Given the description of an element on the screen output the (x, y) to click on. 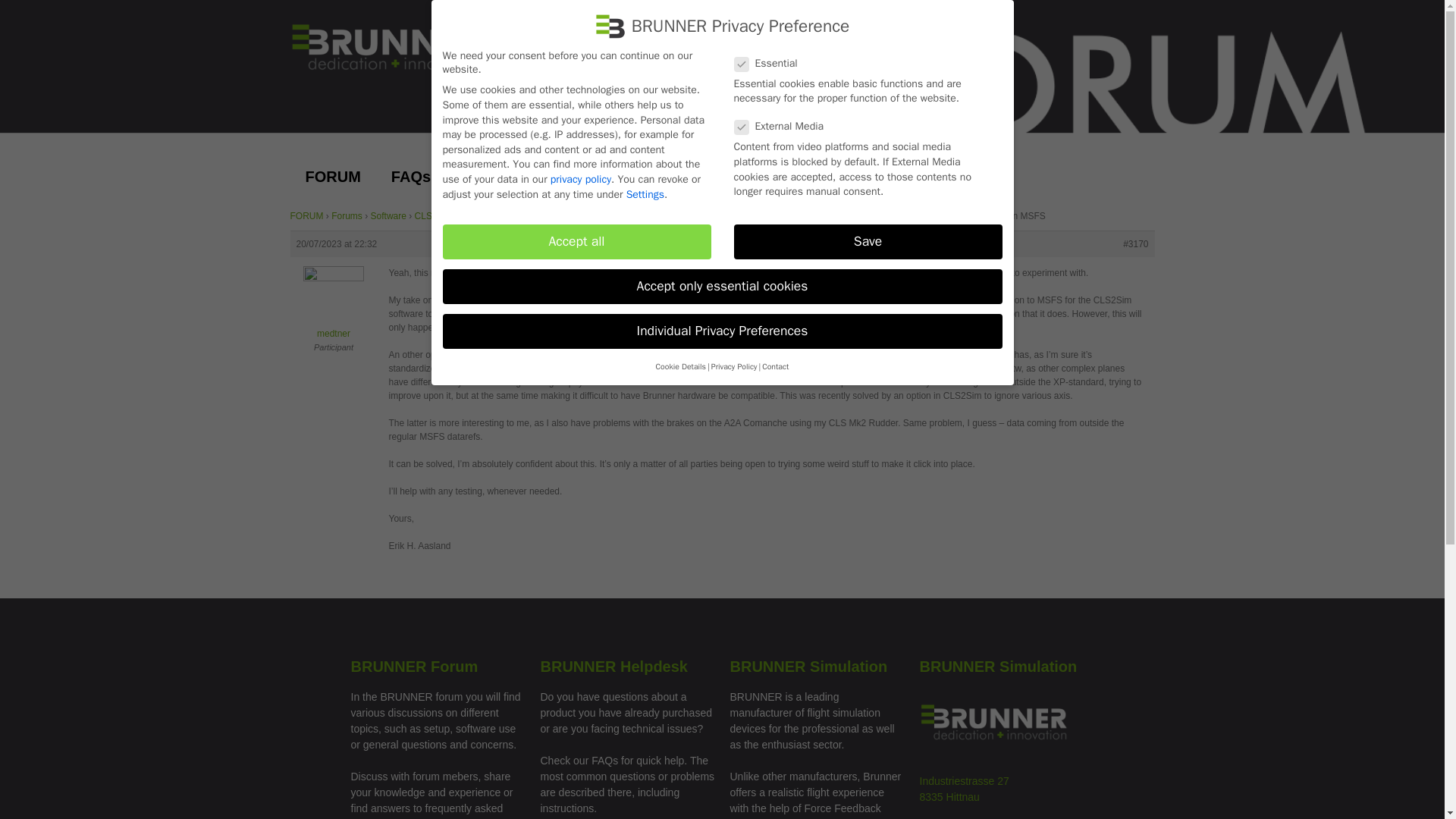
FORUM (332, 176)
FAQs (410, 176)
View medtner's profile (333, 306)
Open Cookie Preferences (32, 799)
CLS2Sim doesn't fully recognize the A2A Comanche in MSFS (623, 215)
HELPDESK (502, 176)
DOWNLOADS (624, 176)
Software (388, 215)
PROFILE CLOUD (767, 176)
CLS2SIM Software (453, 215)
